Given the description of an element on the screen output the (x, y) to click on. 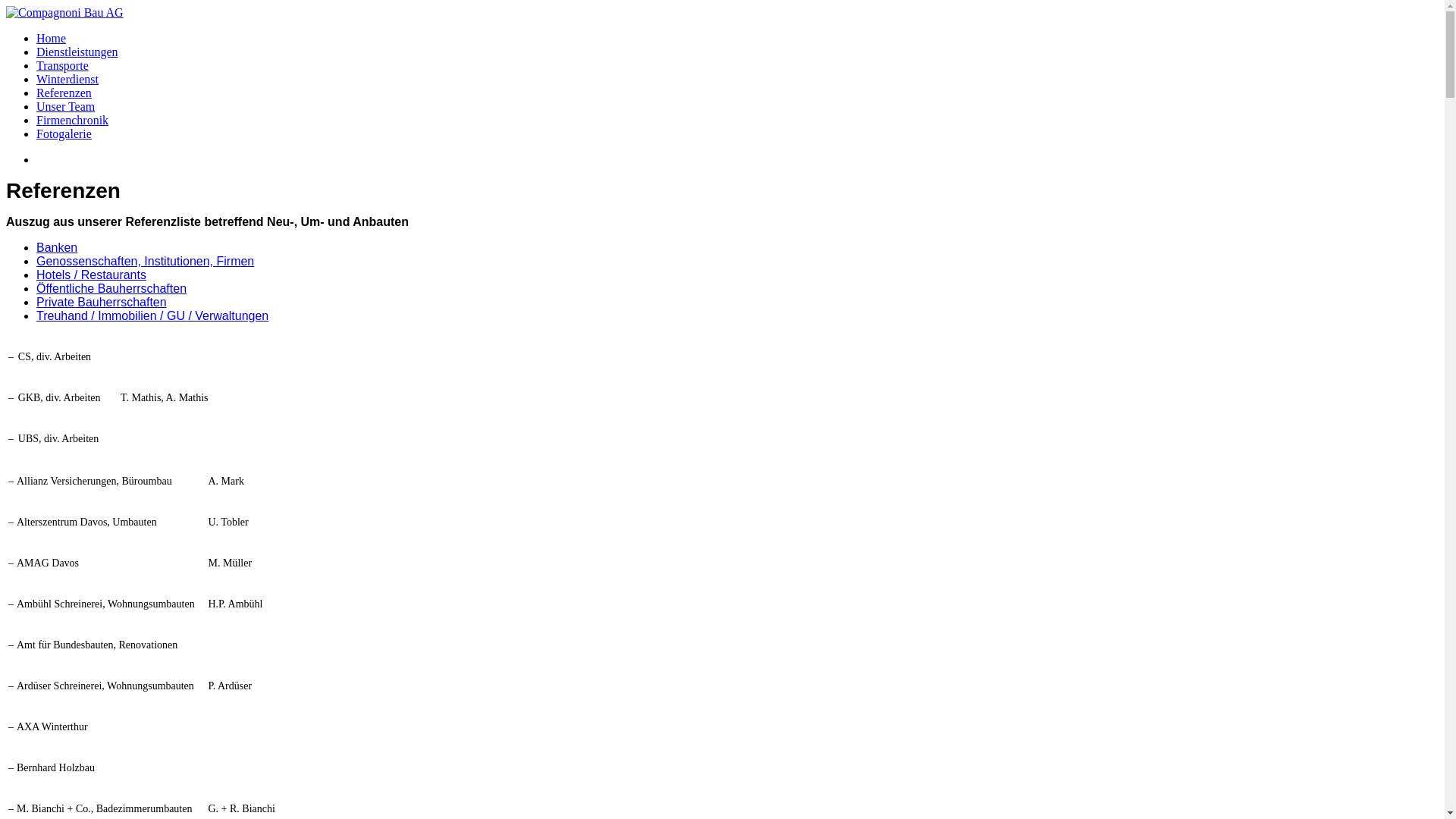
Unser Team Element type: text (65, 106)
Banken Element type: text (56, 247)
Firmenchronik Element type: text (72, 119)
Home Element type: text (50, 37)
Private Bauherrschaften Element type: text (101, 301)
Treuhand / Immobilien / GU / Verwaltungen Element type: text (152, 315)
Transporte Element type: text (62, 65)
Dienstleistungen Element type: text (77, 51)
Referenzen Element type: text (63, 92)
Fotogalerie Element type: text (63, 133)
Genossenschaften, Institutionen, Firmen Element type: text (145, 260)
Hotels / Restaurants Element type: text (91, 274)
Winterdienst Element type: text (67, 78)
